Given the description of an element on the screen output the (x, y) to click on. 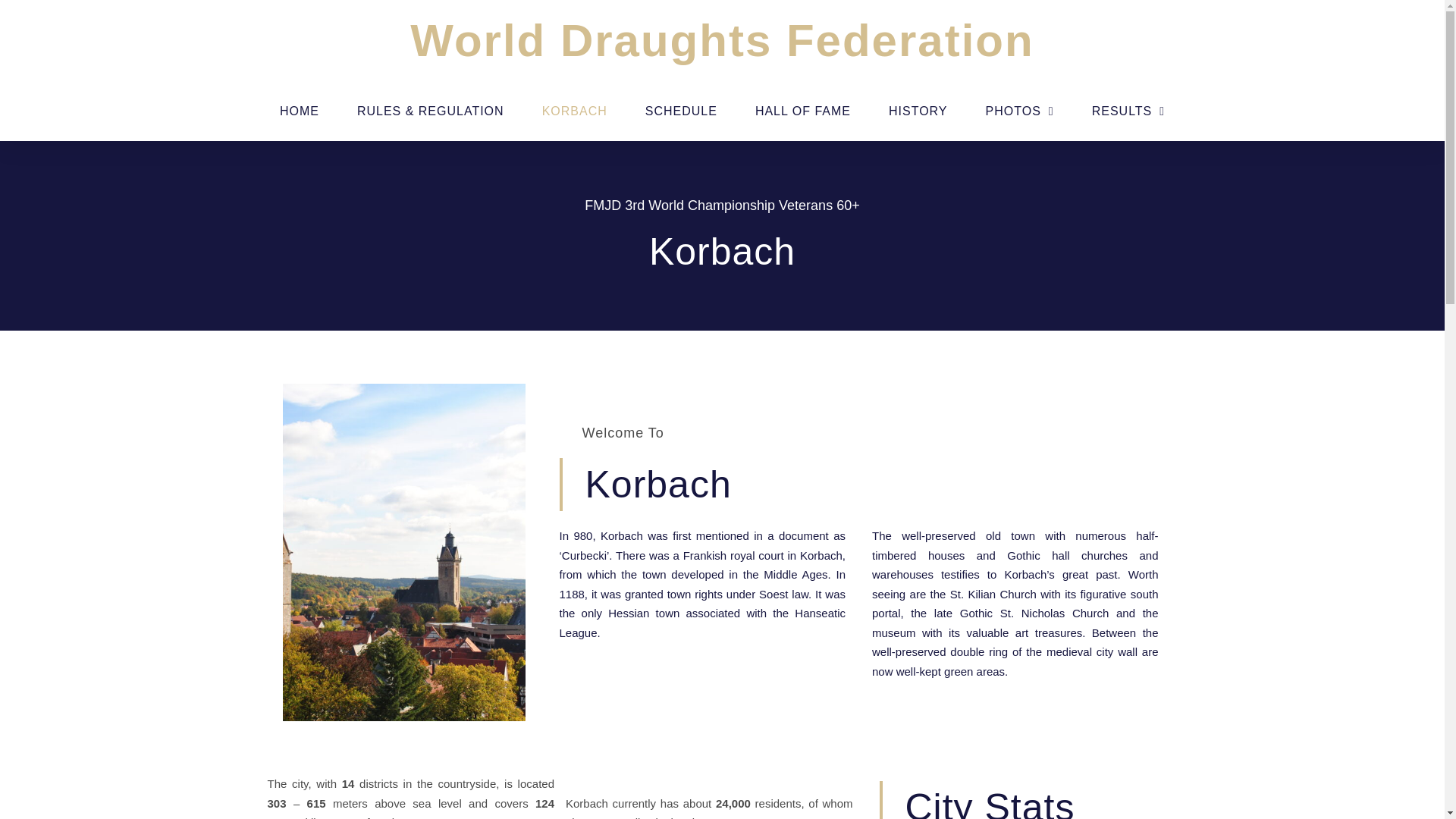
RESULTS (1128, 111)
HOME (298, 111)
HISTORY (917, 111)
HALL OF FAME (802, 111)
KORBACH (574, 111)
SCHEDULE (681, 111)
PHOTOS (1019, 111)
